Given the description of an element on the screen output the (x, y) to click on. 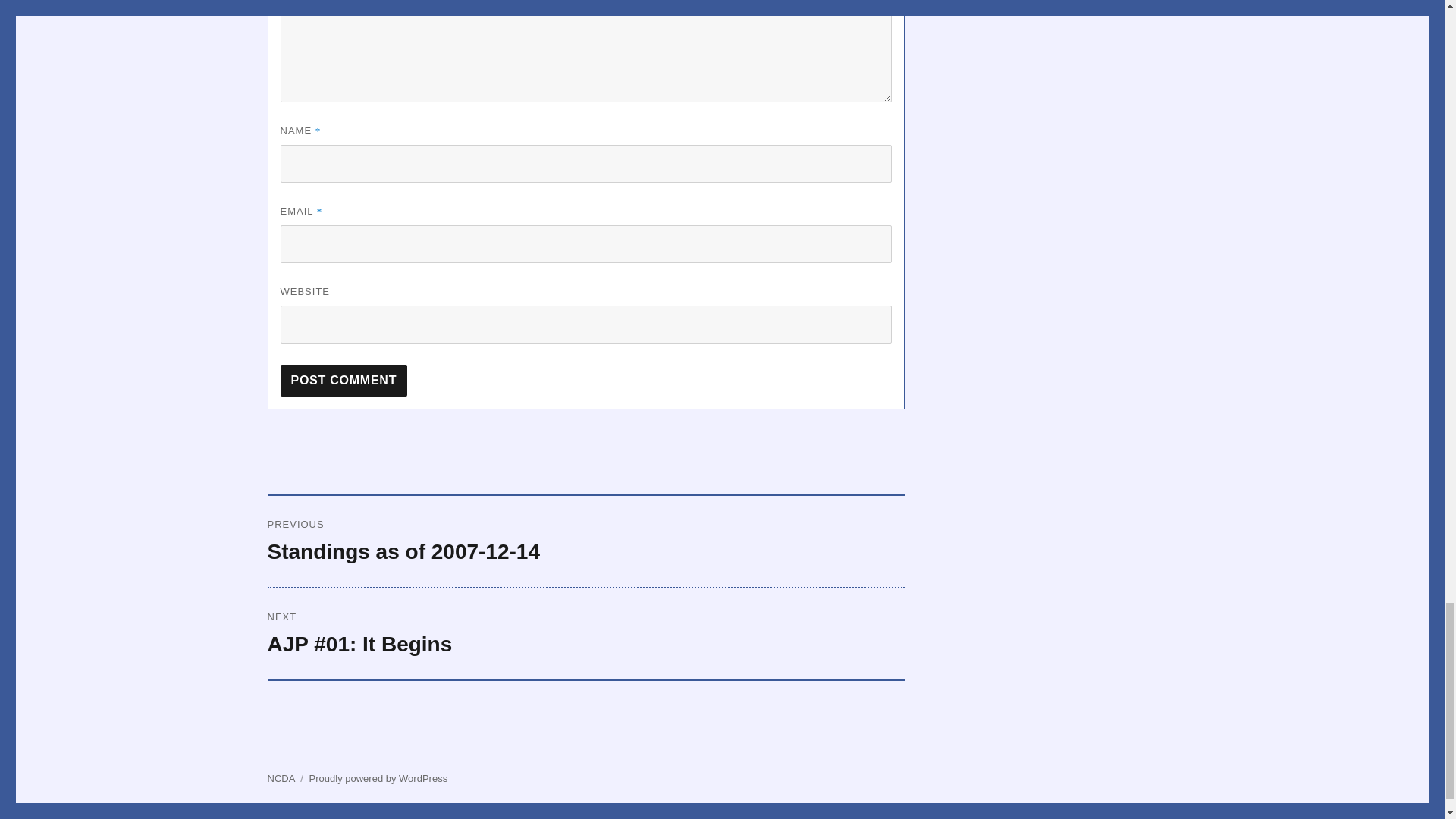
Post Comment (344, 380)
